Given the description of an element on the screen output the (x, y) to click on. 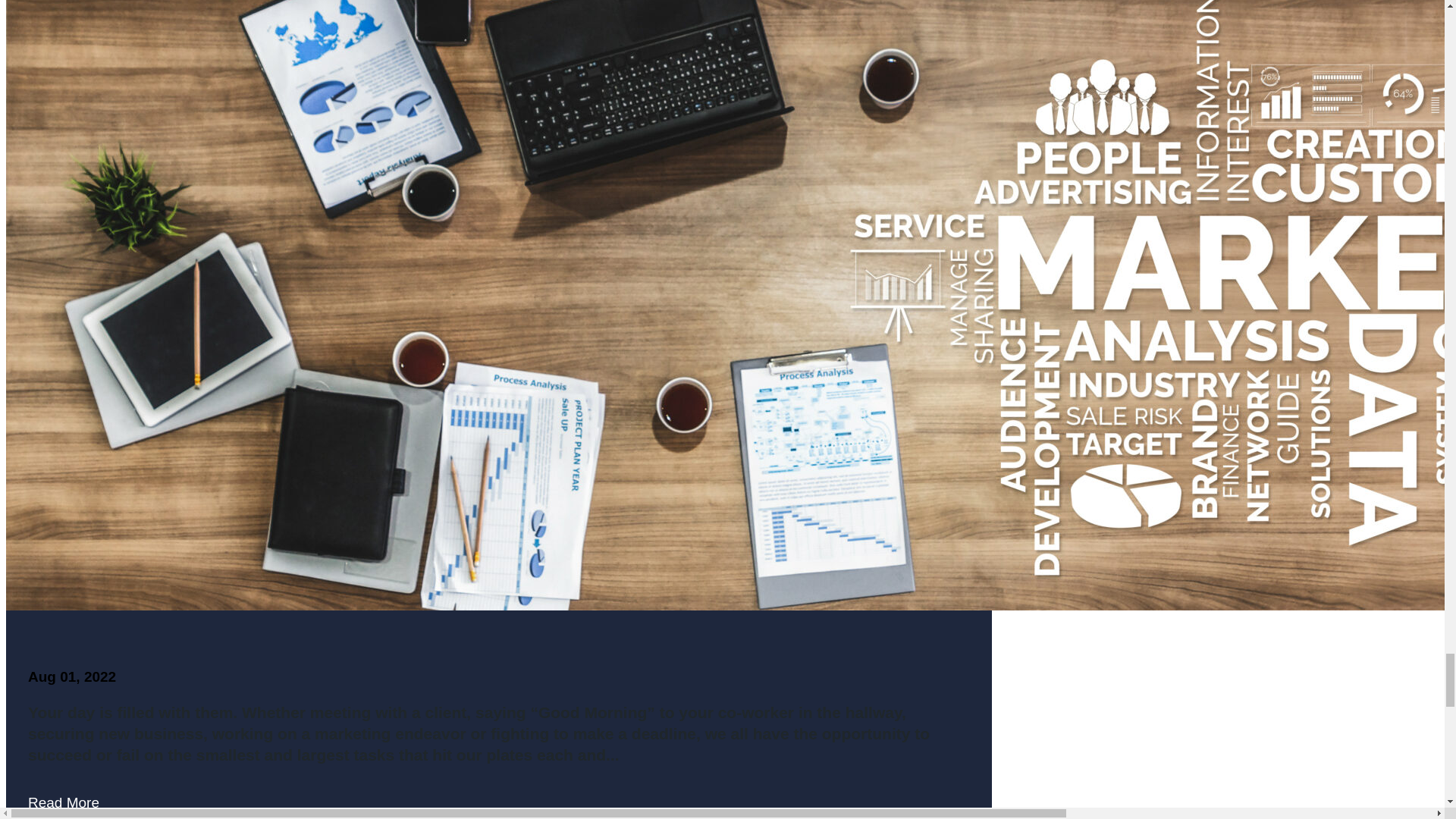
Read More (63, 803)
